Given the description of an element on the screen output the (x, y) to click on. 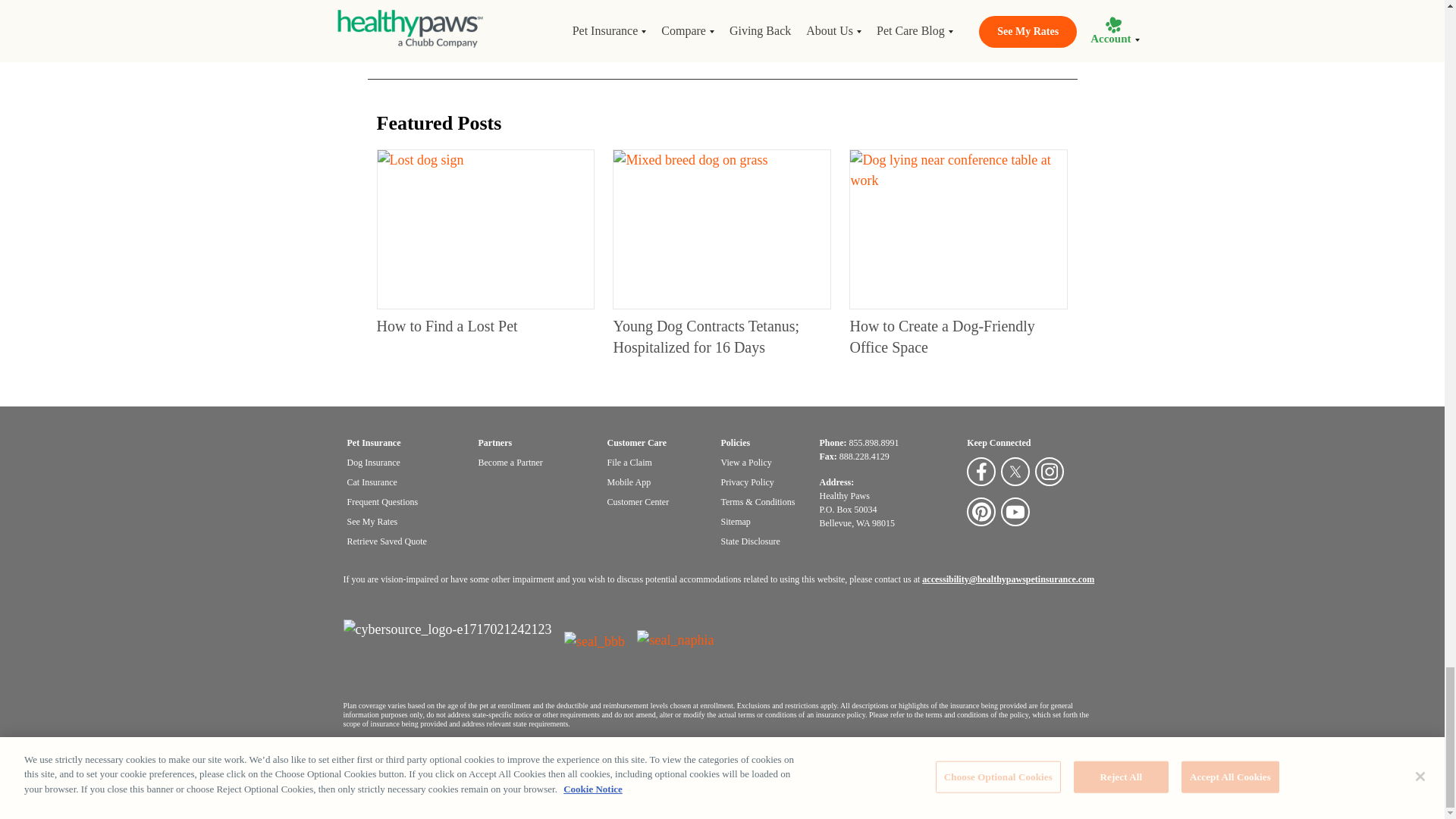
Runny Noses in Dogs: Causes and Treatment (489, 13)
